Given the description of an element on the screen output the (x, y) to click on. 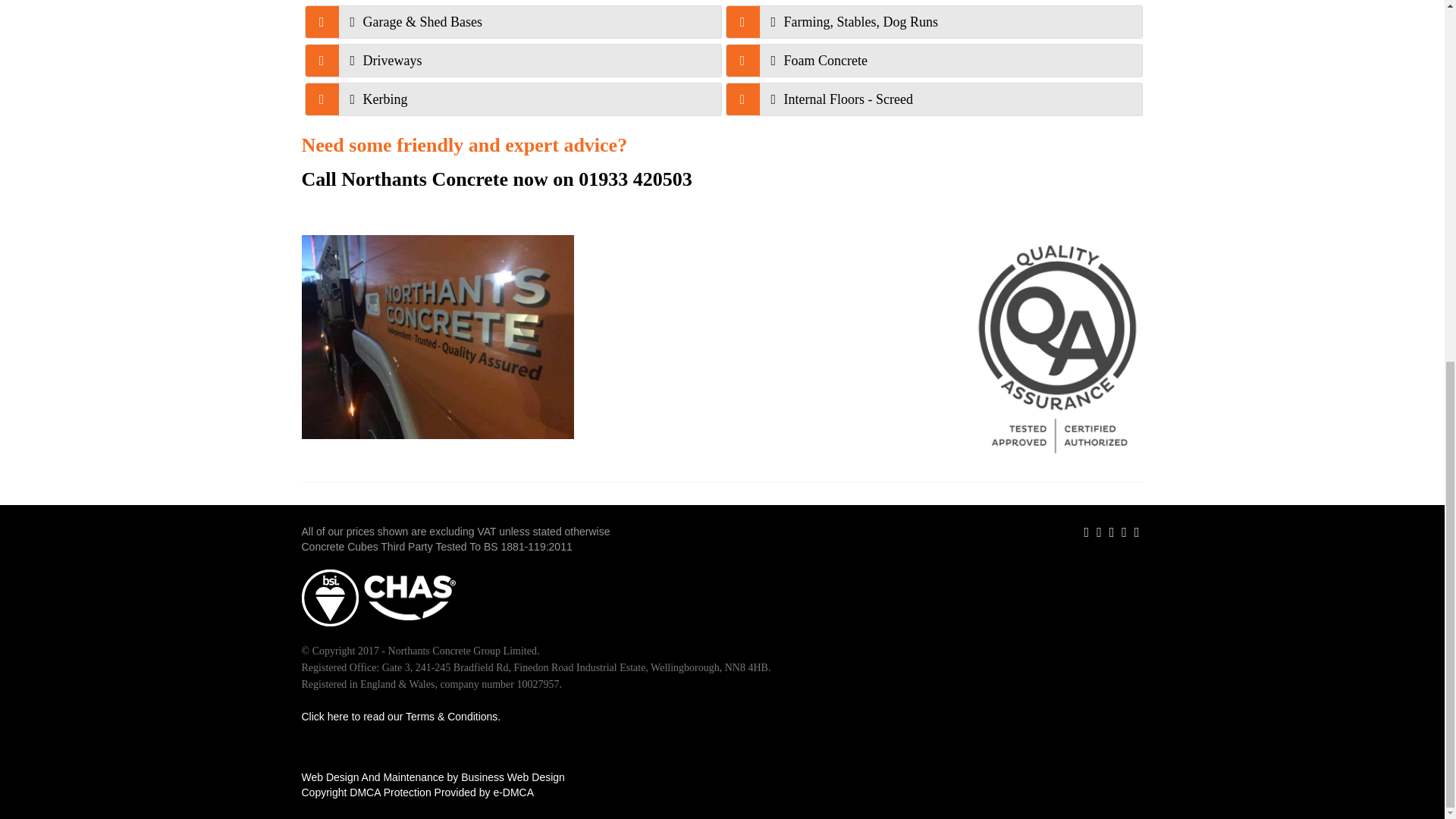
Farming, Stables, Dog Runs (949, 21)
Internal Floors - Screed (949, 99)
Driveways (529, 60)
Kerbing (529, 99)
Foam Concrete (949, 60)
